Given the description of an element on the screen output the (x, y) to click on. 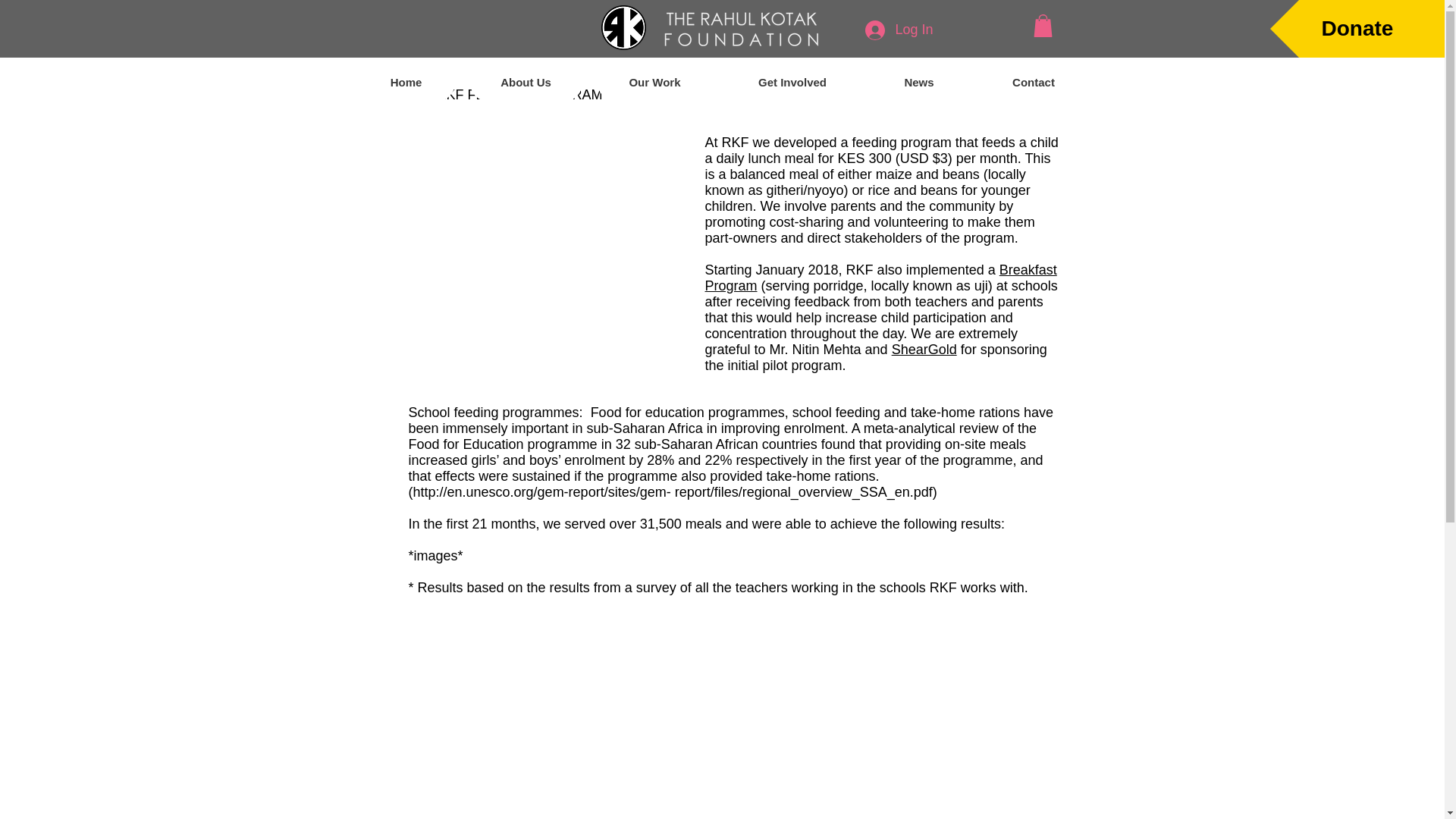
ShearGold (923, 349)
Breakfast Program (880, 277)
Get Involved (792, 82)
Contact (1033, 82)
News (918, 82)
Our Work (654, 82)
Home (406, 82)
Log In (898, 30)
About Us (526, 82)
